Given the description of an element on the screen output the (x, y) to click on. 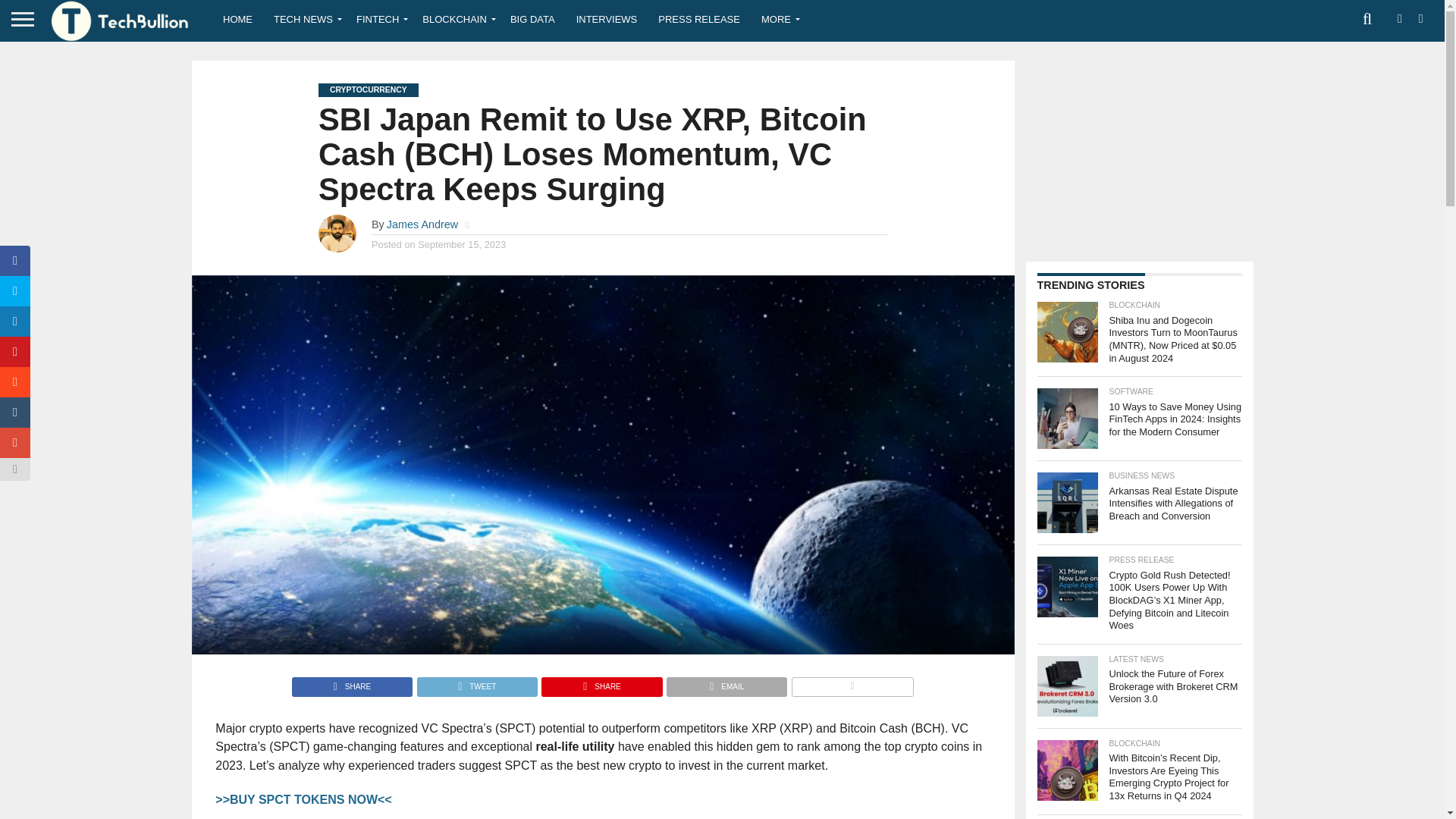
Share on Facebook (352, 682)
Posts by James Andrew (422, 224)
Pin This Post (601, 682)
Tweet This Post (476, 682)
